Given the description of an element on the screen output the (x, y) to click on. 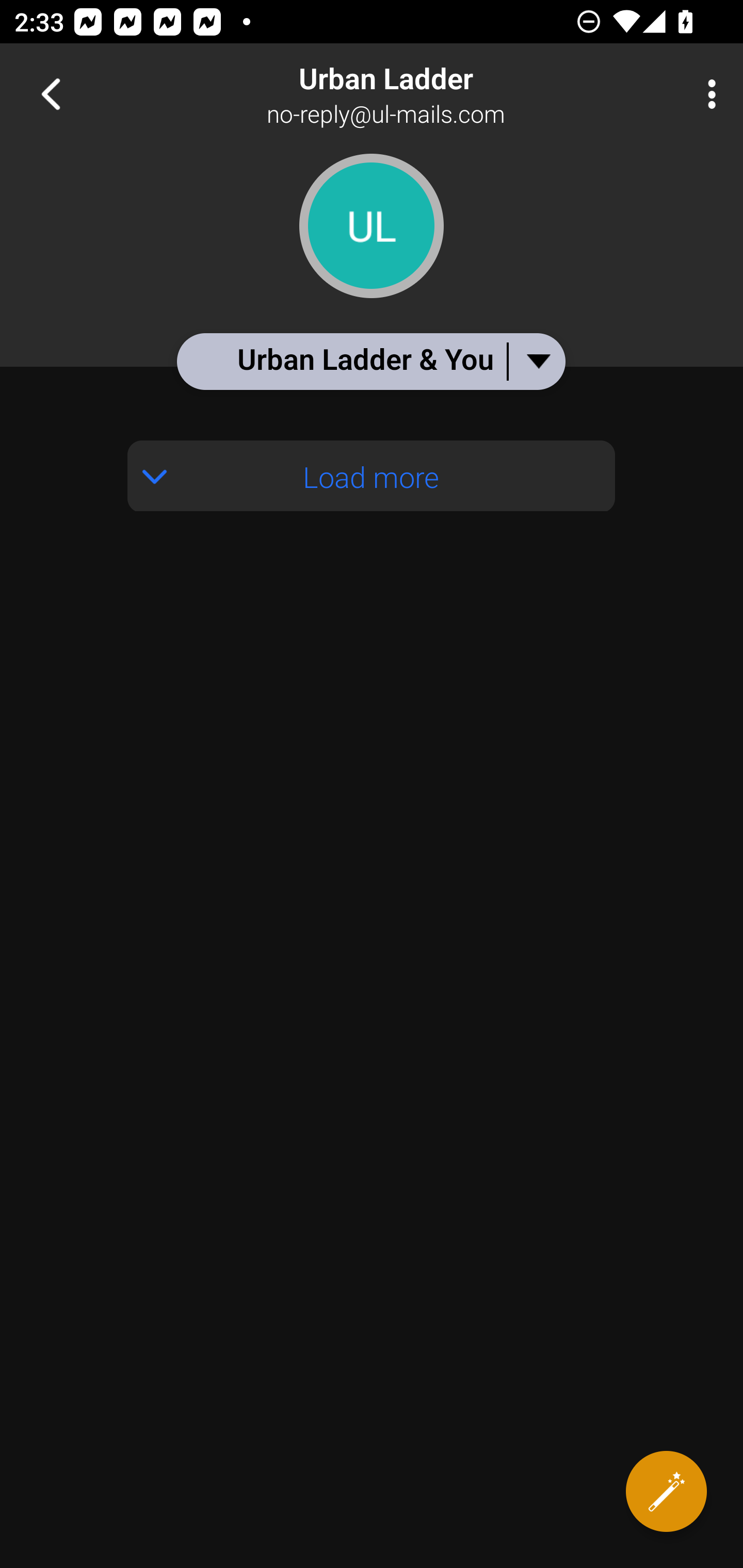
Navigate up (50, 93)
Urban Ladder no-reply@ul-mails.com (436, 93)
More Options (706, 93)
Urban Ladder & You (370, 361)
Load more (371, 453)
Load more (371, 475)
